Given the description of an element on the screen output the (x, y) to click on. 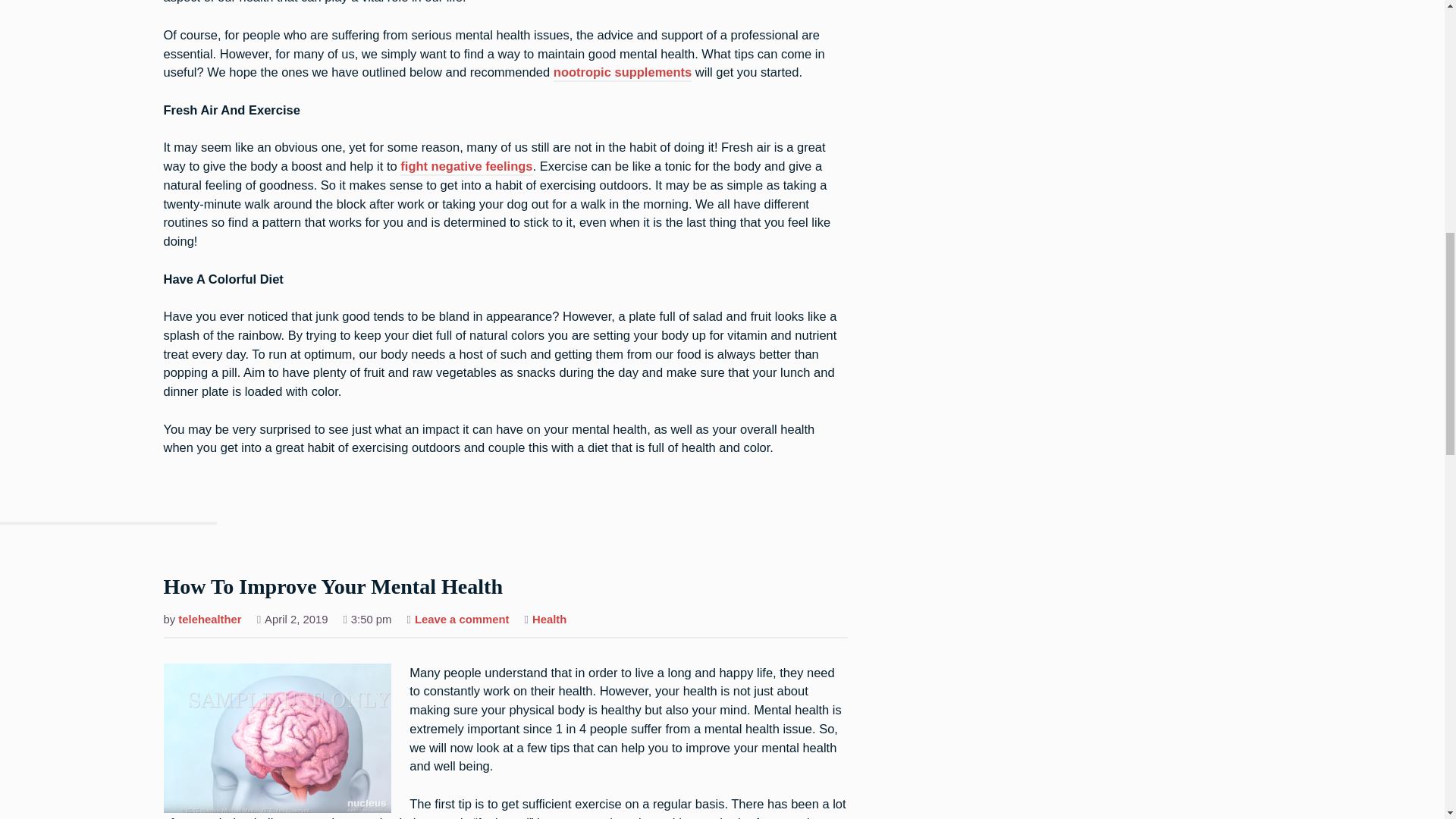
fight negative feelings (466, 167)
Health (461, 620)
nootropic supplements (549, 620)
Posts by telehealther (622, 73)
telehealther (209, 620)
How To Improve Your Mental Health (209, 620)
